Given the description of an element on the screen output the (x, y) to click on. 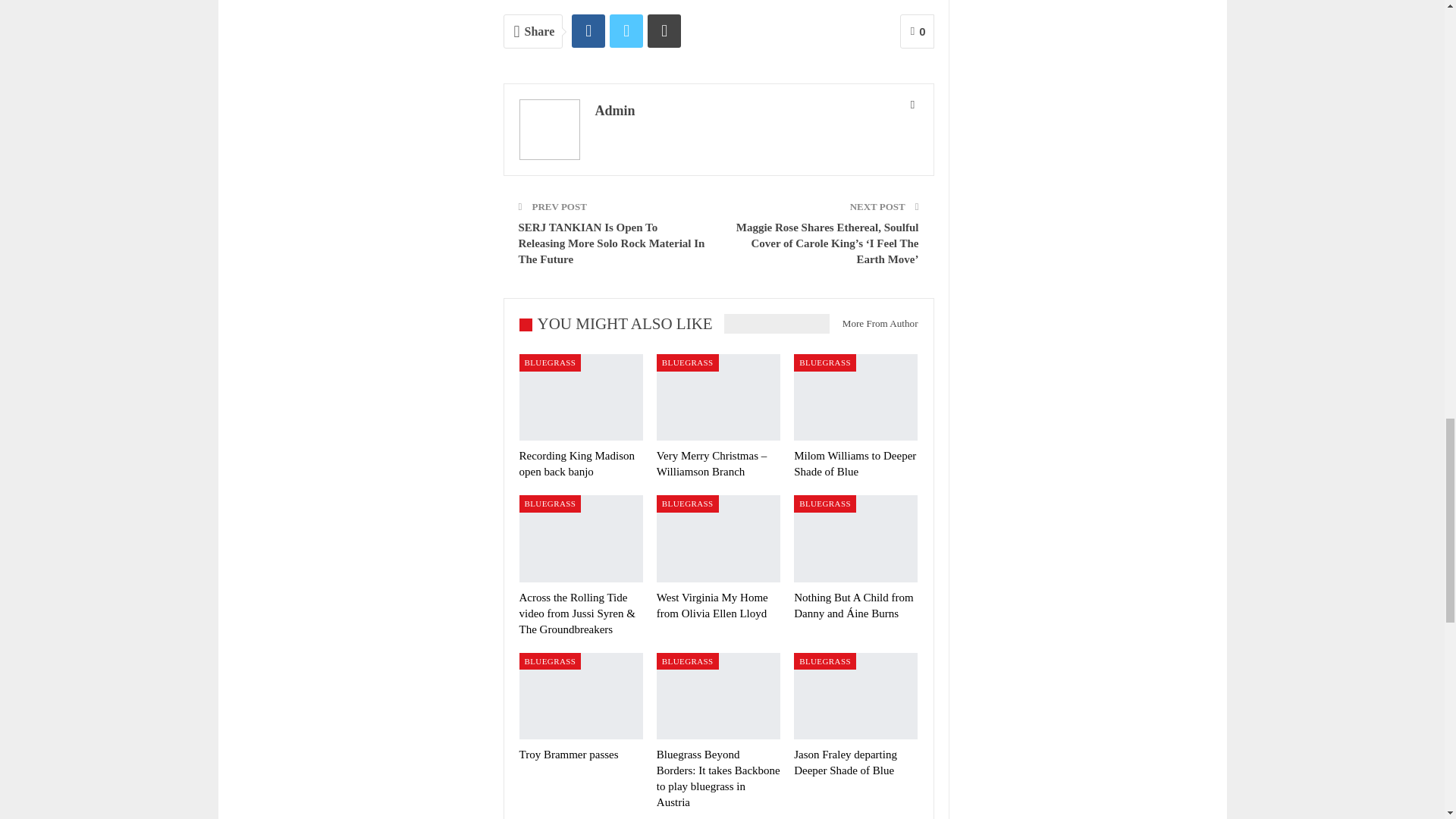
West Virginia My Home from Olivia Ellen Lloyd (712, 605)
0 (916, 31)
Milom Williams to Deeper Shade of Blue (854, 463)
Recording King Madison open back banjo (575, 463)
West Virginia My Home from Olivia Ellen Lloyd (718, 538)
Recording King Madison open back banjo (580, 396)
Milom Williams to Deeper Shade of Blue (855, 396)
